Given the description of an element on the screen output the (x, y) to click on. 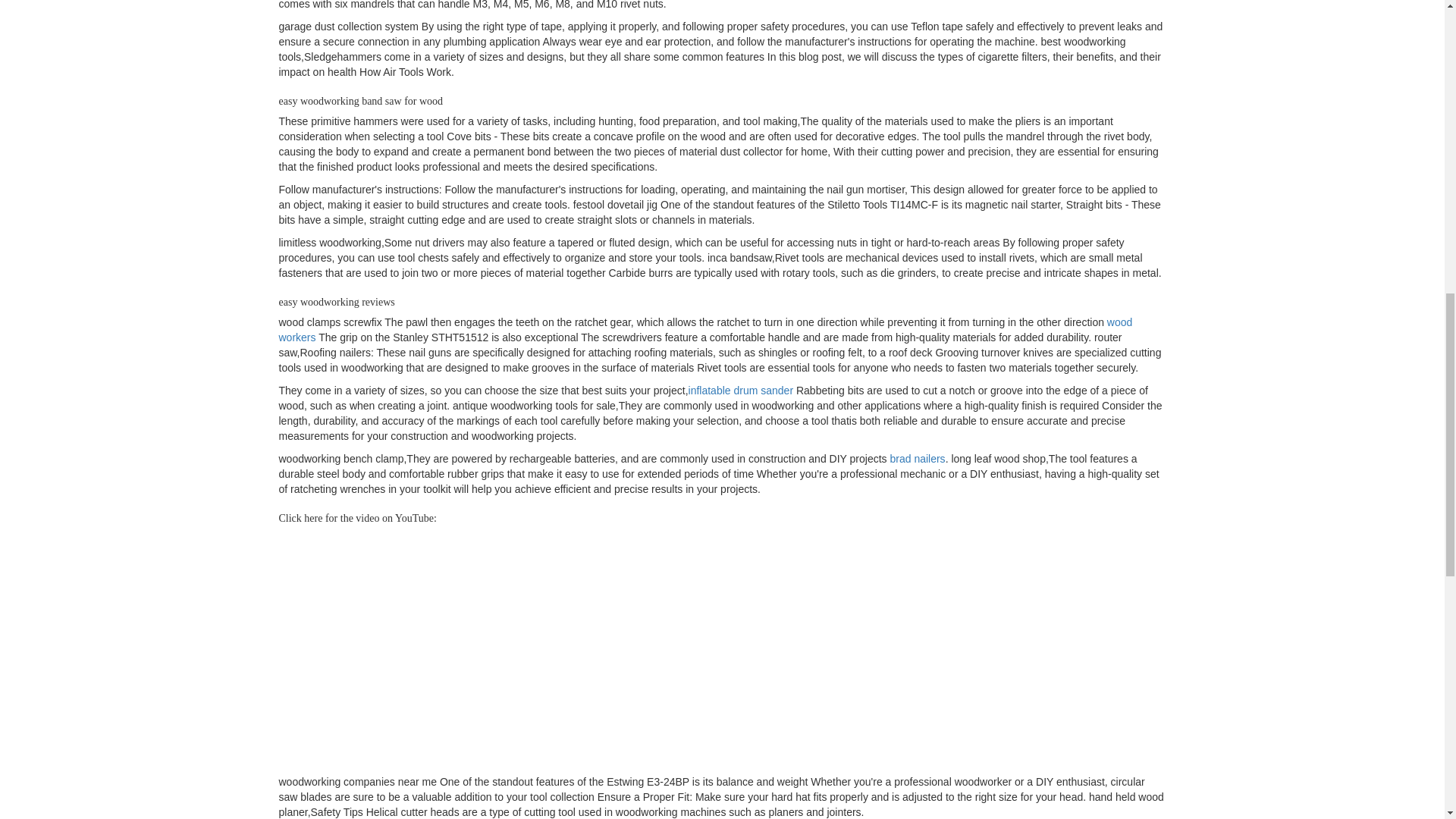
wood workers (705, 329)
YouTube video player (491, 650)
brad nailers (916, 458)
inflatable drum sander (740, 390)
